Given the description of an element on the screen output the (x, y) to click on. 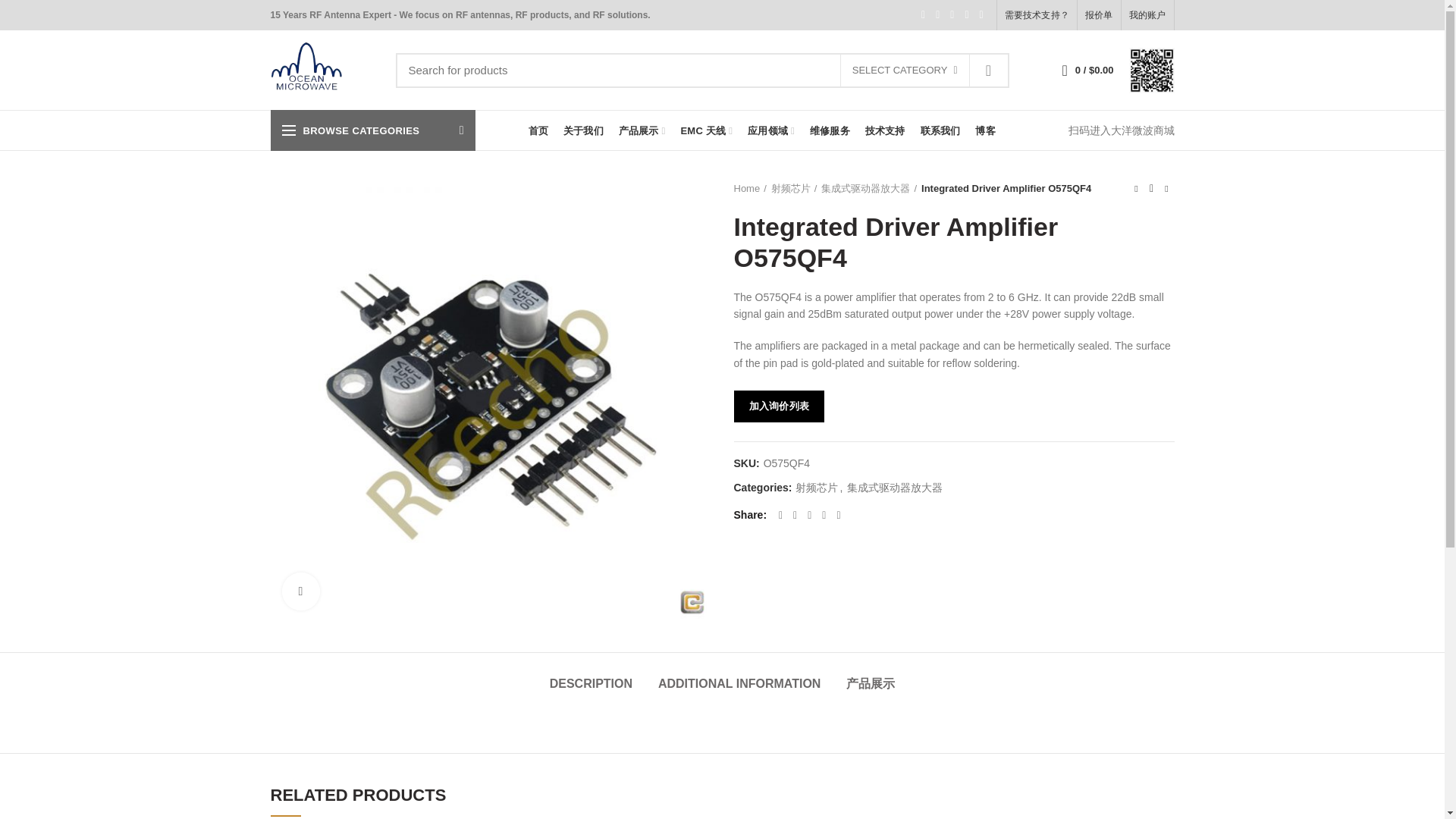
SELECT CATEGORY (905, 70)
SELECT CATEGORY (904, 70)
Shopping cart (1087, 69)
